Given the description of an element on the screen output the (x, y) to click on. 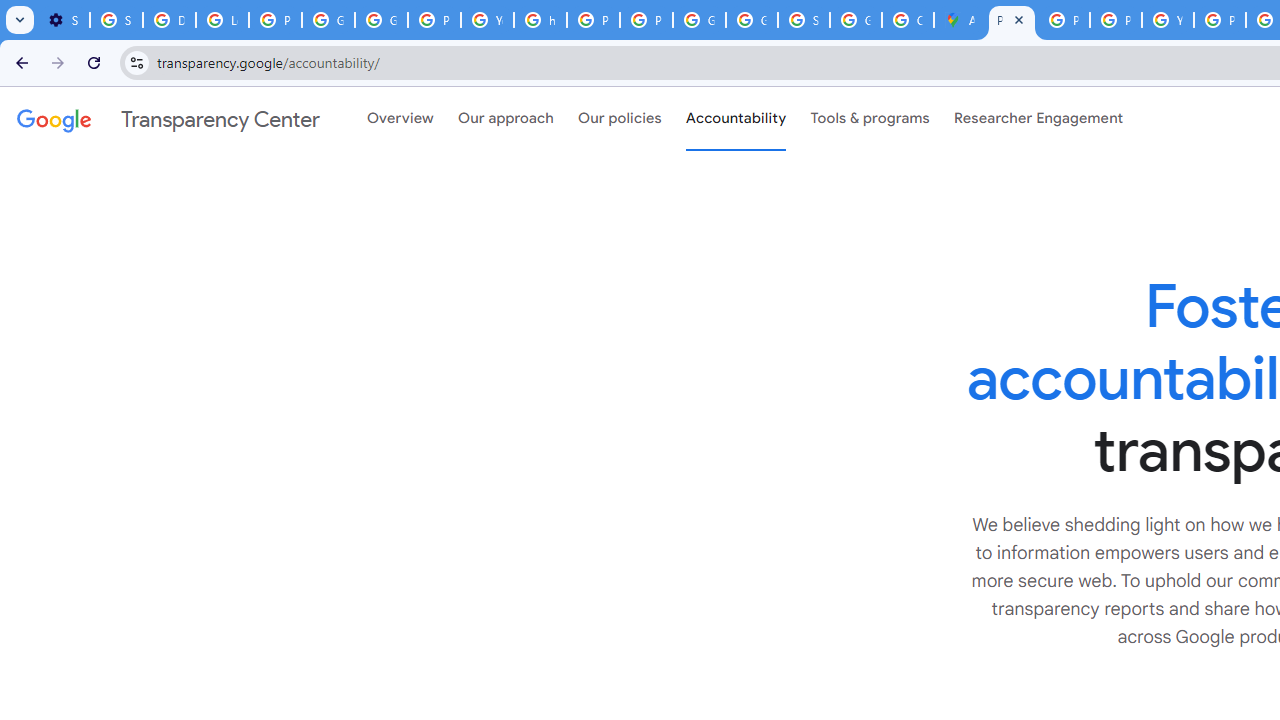
Privacy Help Center - Policies Help (1115, 20)
Transparency Center (167, 119)
Our approach (506, 119)
Tools & programs (869, 119)
Settings - On startup (63, 20)
Google Account Help (328, 20)
Create your Google Account (907, 20)
